Given the description of an element on the screen output the (x, y) to click on. 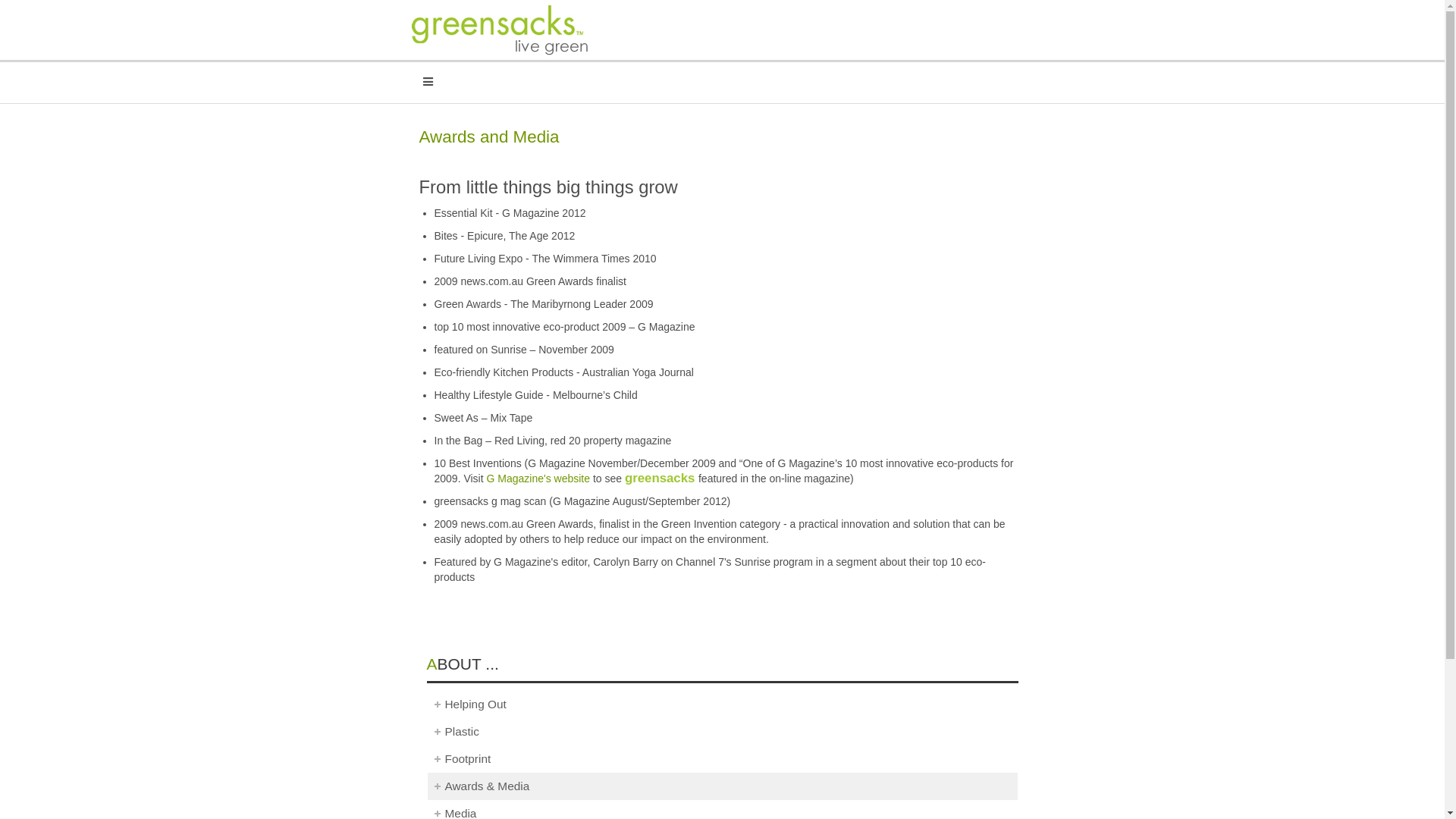
Helping Out Element type: text (722, 704)
Footprint Element type: text (722, 758)
Awards and Media Element type: text (488, 136)
G Magazine's website Element type: text (538, 478)
Plastic Element type: text (722, 731)
Awards & Media Element type: text (722, 786)
